Given the description of an element on the screen output the (x, y) to click on. 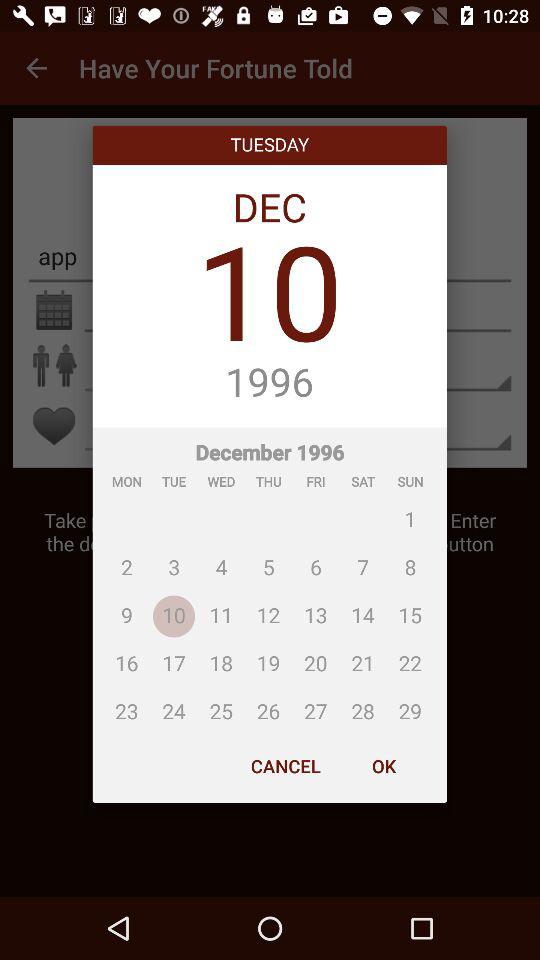
click the 1996 (269, 383)
